Given the description of an element on the screen output the (x, y) to click on. 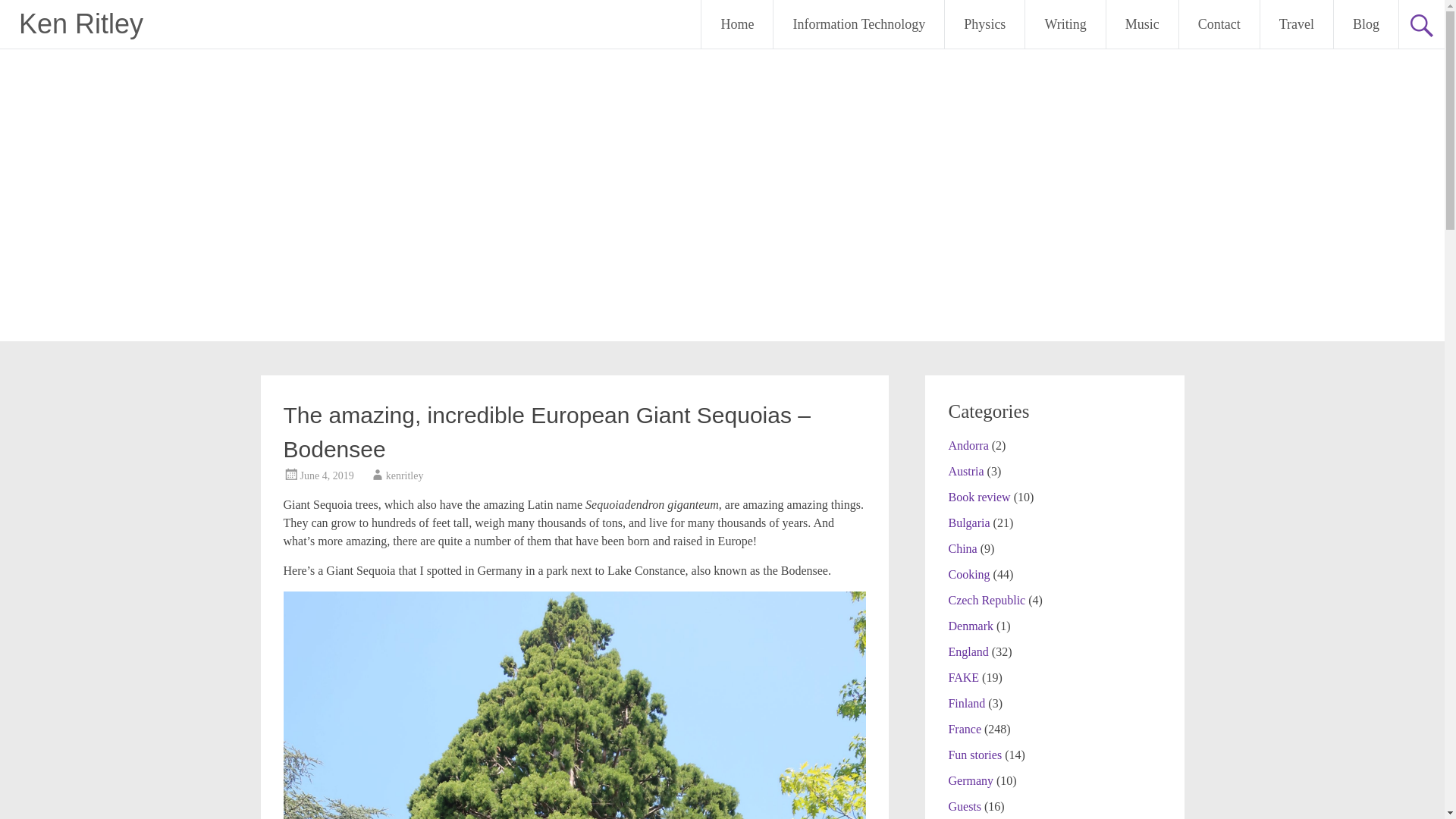
Writing (1065, 24)
Physics (984, 24)
Ken Ritley (80, 23)
Information Technology (858, 24)
Ken Ritley (80, 23)
Home (737, 24)
